Given the description of an element on the screen output the (x, y) to click on. 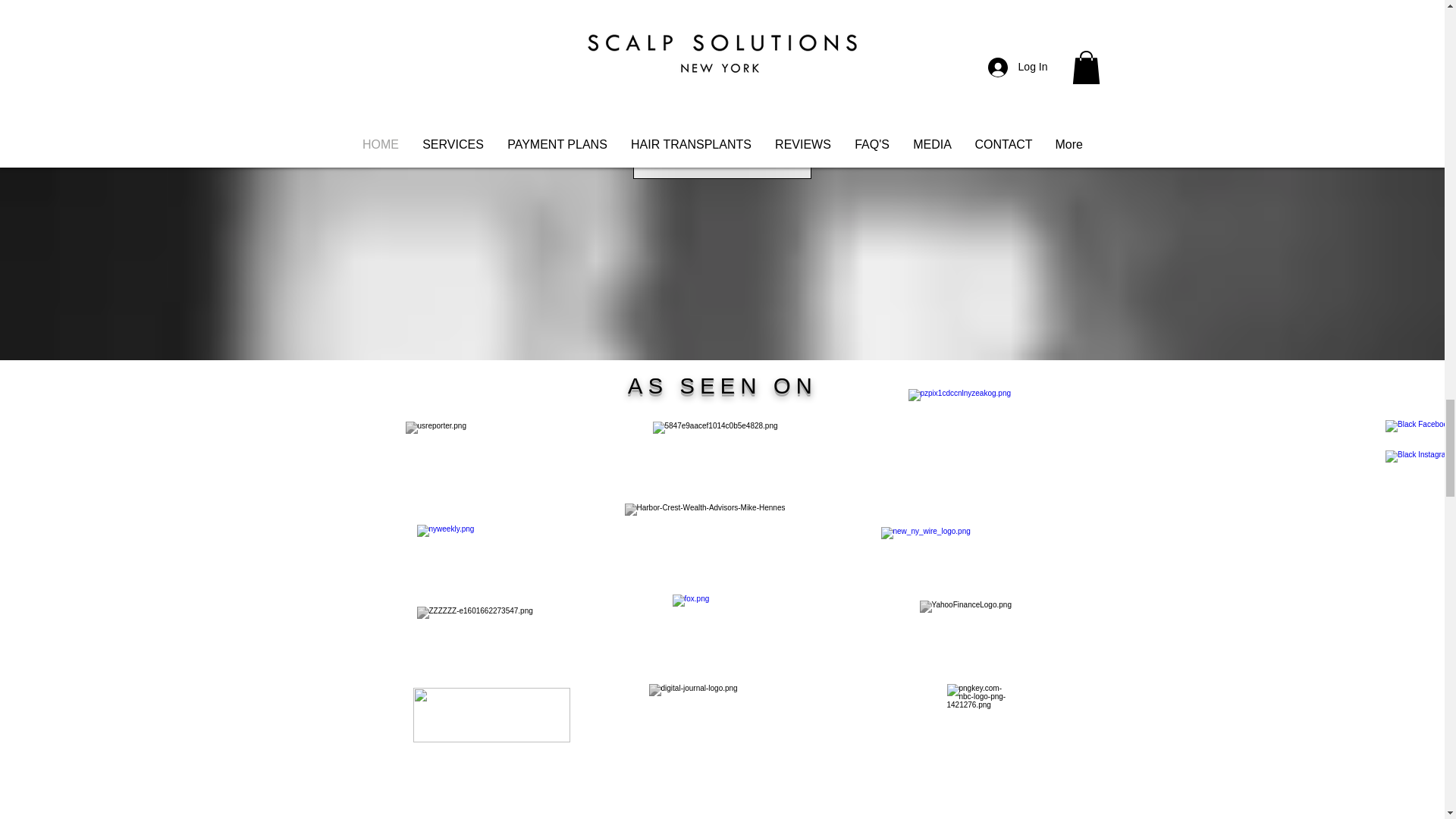
GET STARTED (720, 157)
